Given the description of an element on the screen output the (x, y) to click on. 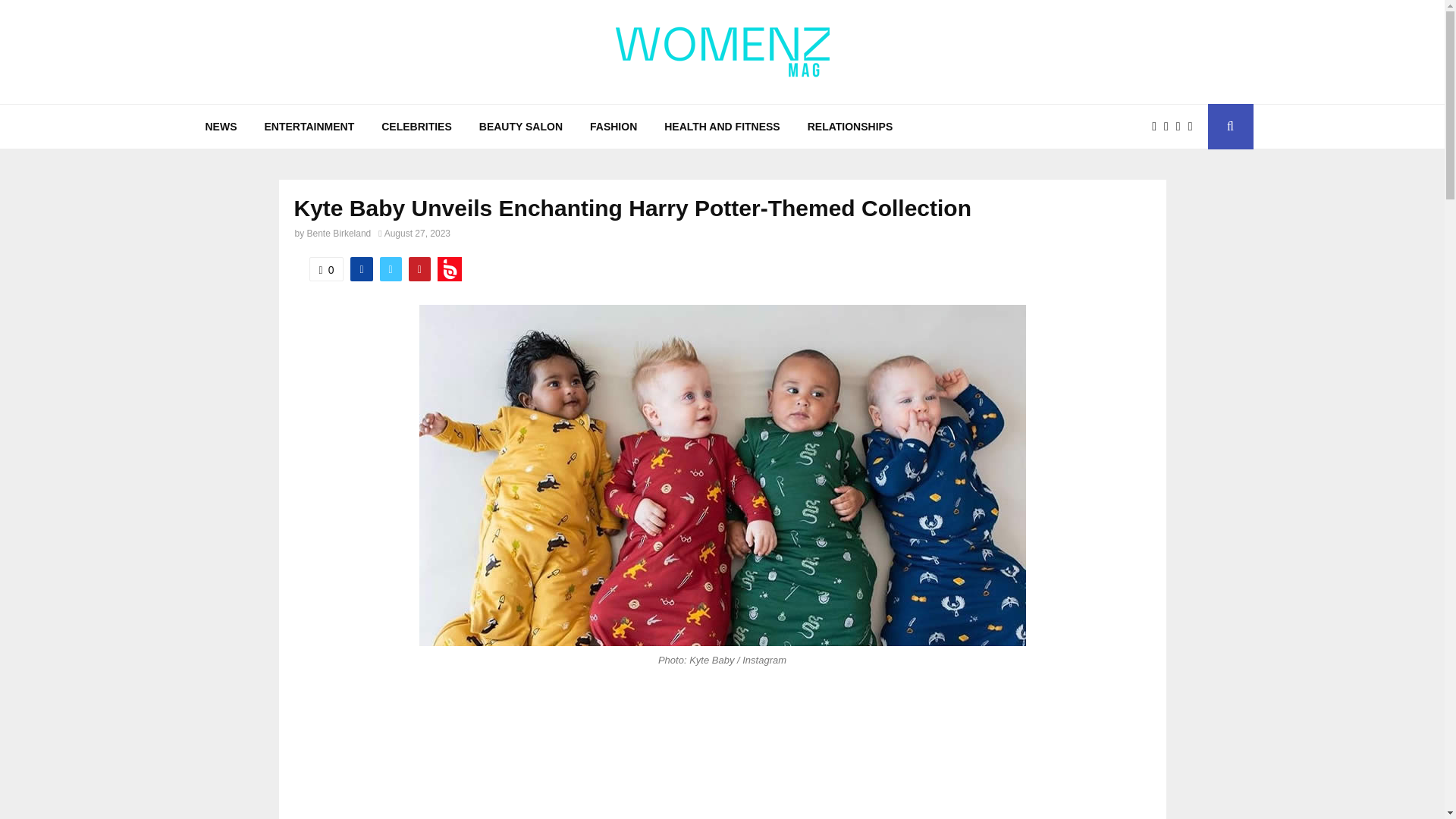
NEWS (220, 126)
Like (325, 269)
ENTERTAINMENT (309, 126)
CELEBRITIES (416, 126)
Bente Birkeland (339, 233)
Advertisement (722, 759)
0 (325, 269)
RELATIONSHIPS (850, 126)
HEALTH AND FITNESS (721, 126)
FASHION (613, 126)
